Given the description of an element on the screen output the (x, y) to click on. 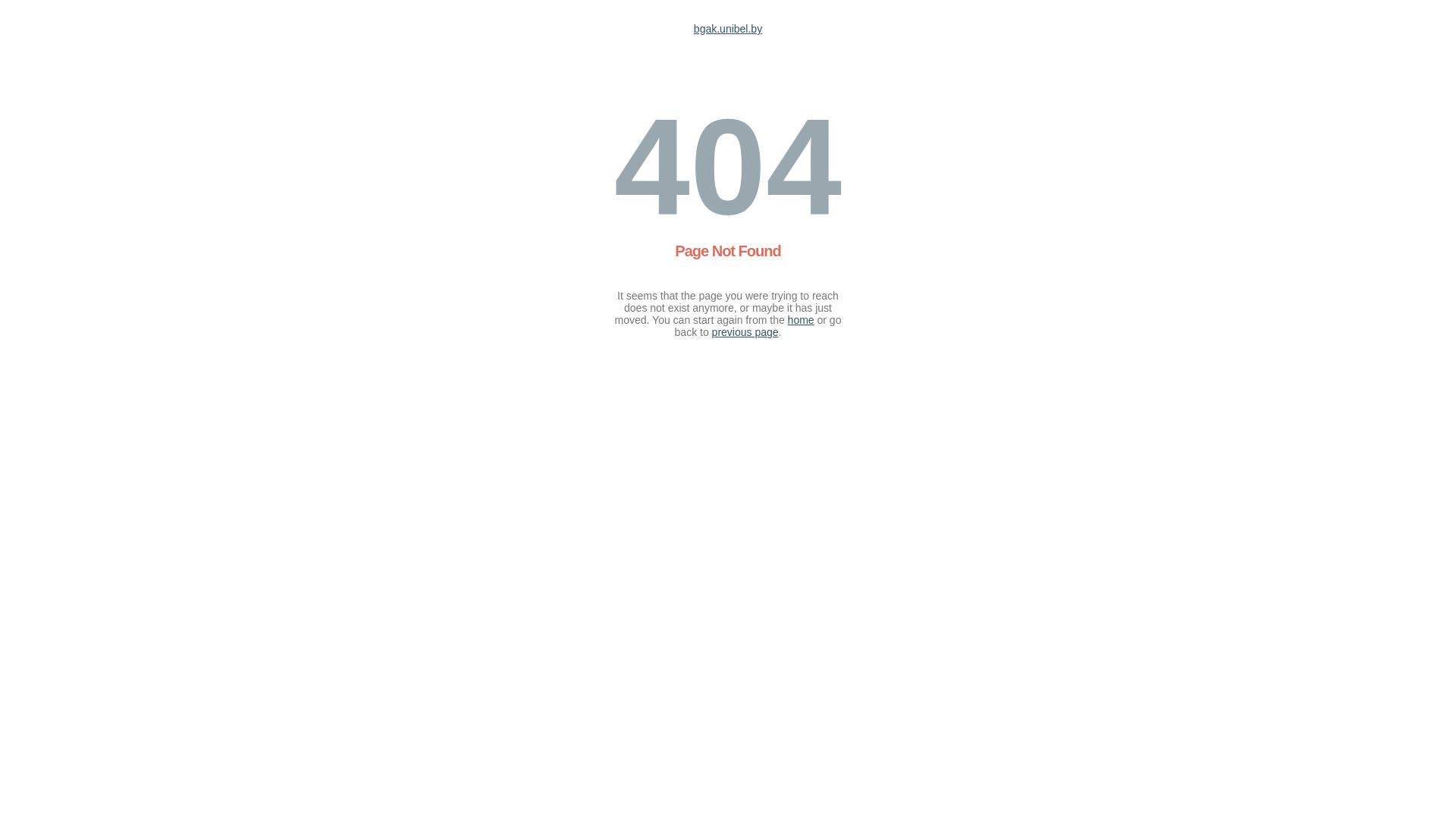
home Element type: text (800, 319)
previous page Element type: text (745, 332)
bgak.unibel.by Element type: text (727, 28)
